Given the description of an element on the screen output the (x, y) to click on. 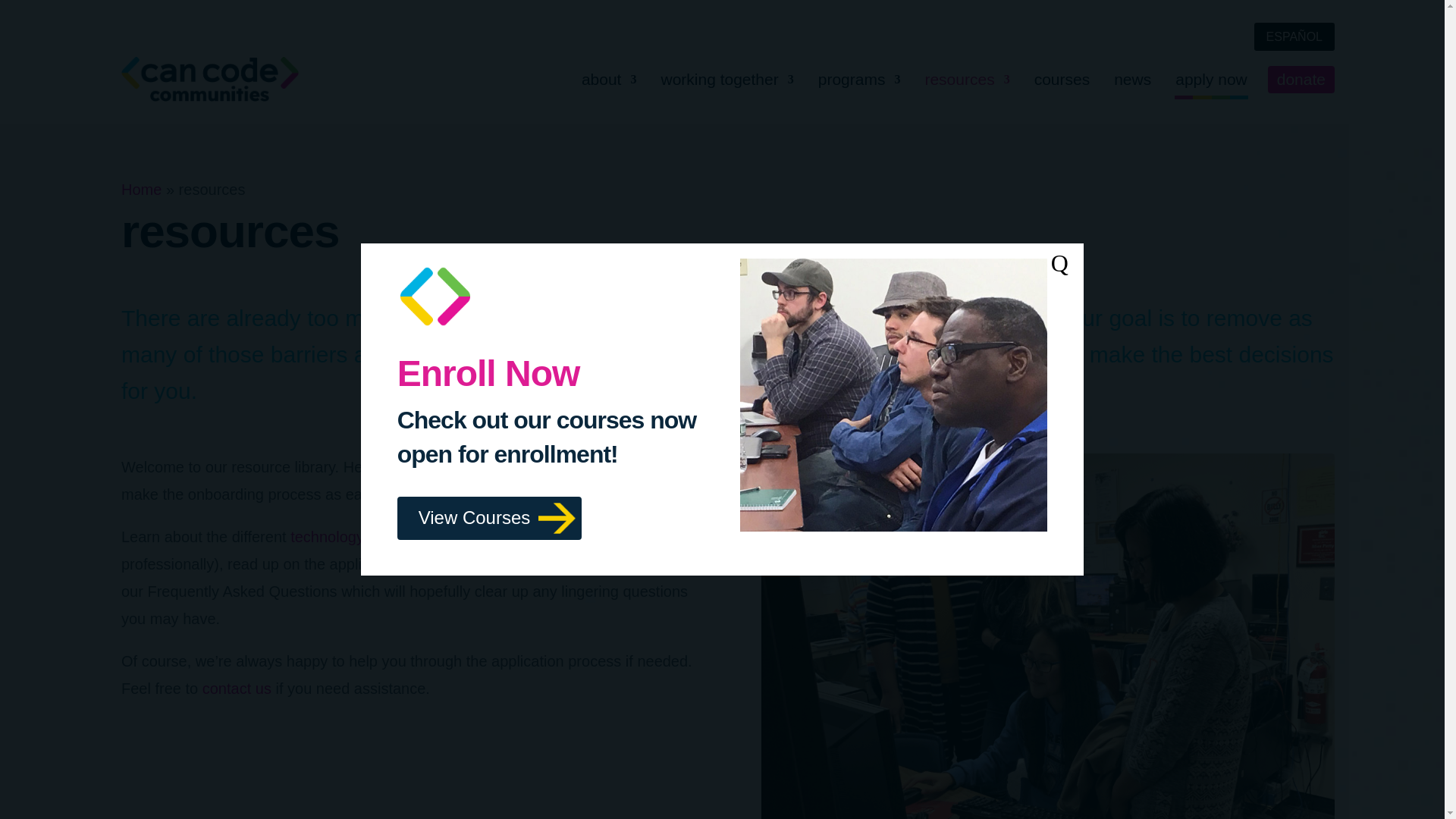
programs (859, 79)
apply now (1210, 79)
working together (727, 79)
about (608, 79)
cropped-cancode-favicon.png (435, 296)
Javascript-fundamentals-course (892, 394)
courses (1061, 79)
resources (966, 79)
donate (1301, 79)
